Given the description of an element on the screen output the (x, y) to click on. 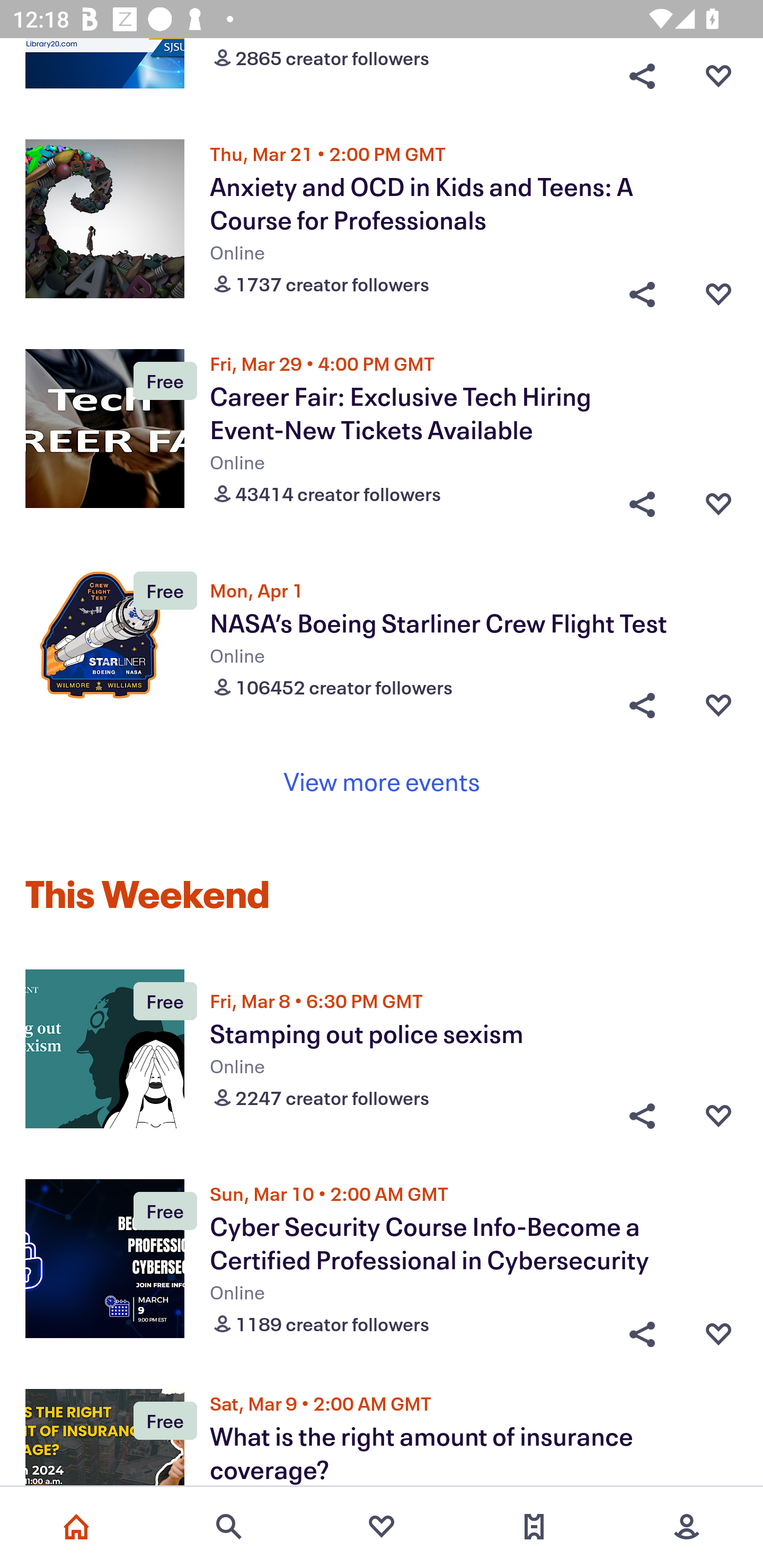
Share button (642, 75)
Favorite button (718, 75)
Share button (642, 290)
Favorite button (718, 290)
Share button (642, 499)
Favorite button (718, 499)
Share button (642, 705)
Favorite button (718, 705)
View more events (381, 781)
Share button (642, 1116)
Favorite button (718, 1116)
Share button (642, 1330)
Favorite button (718, 1330)
Home (76, 1526)
Search events (228, 1526)
Favorites (381, 1526)
Tickets (533, 1526)
More (686, 1526)
